Given the description of an element on the screen output the (x, y) to click on. 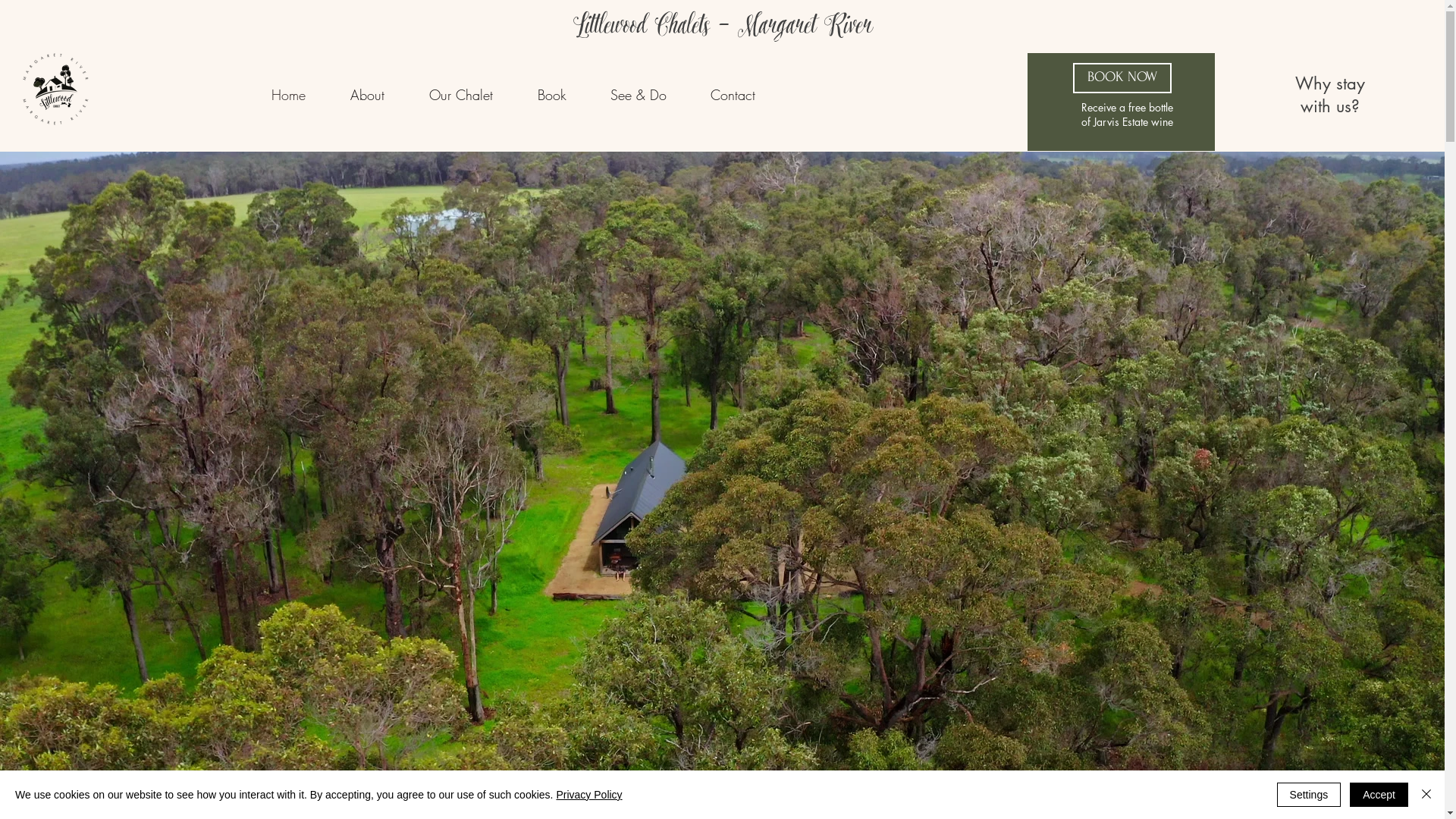
Settings Element type: text (1309, 794)
Contact Element type: text (732, 94)
with us? Element type: text (1329, 105)
BOOK NOW Element type: text (1122, 77)
Home Element type: text (288, 94)
Our Chalet Element type: text (461, 94)
See & Do Element type: text (638, 94)
About Element type: text (367, 94)
Accept Element type: text (1378, 794)
Privacy Policy Element type: text (588, 794)
Book Element type: text (551, 94)
